Given the description of an element on the screen output the (x, y) to click on. 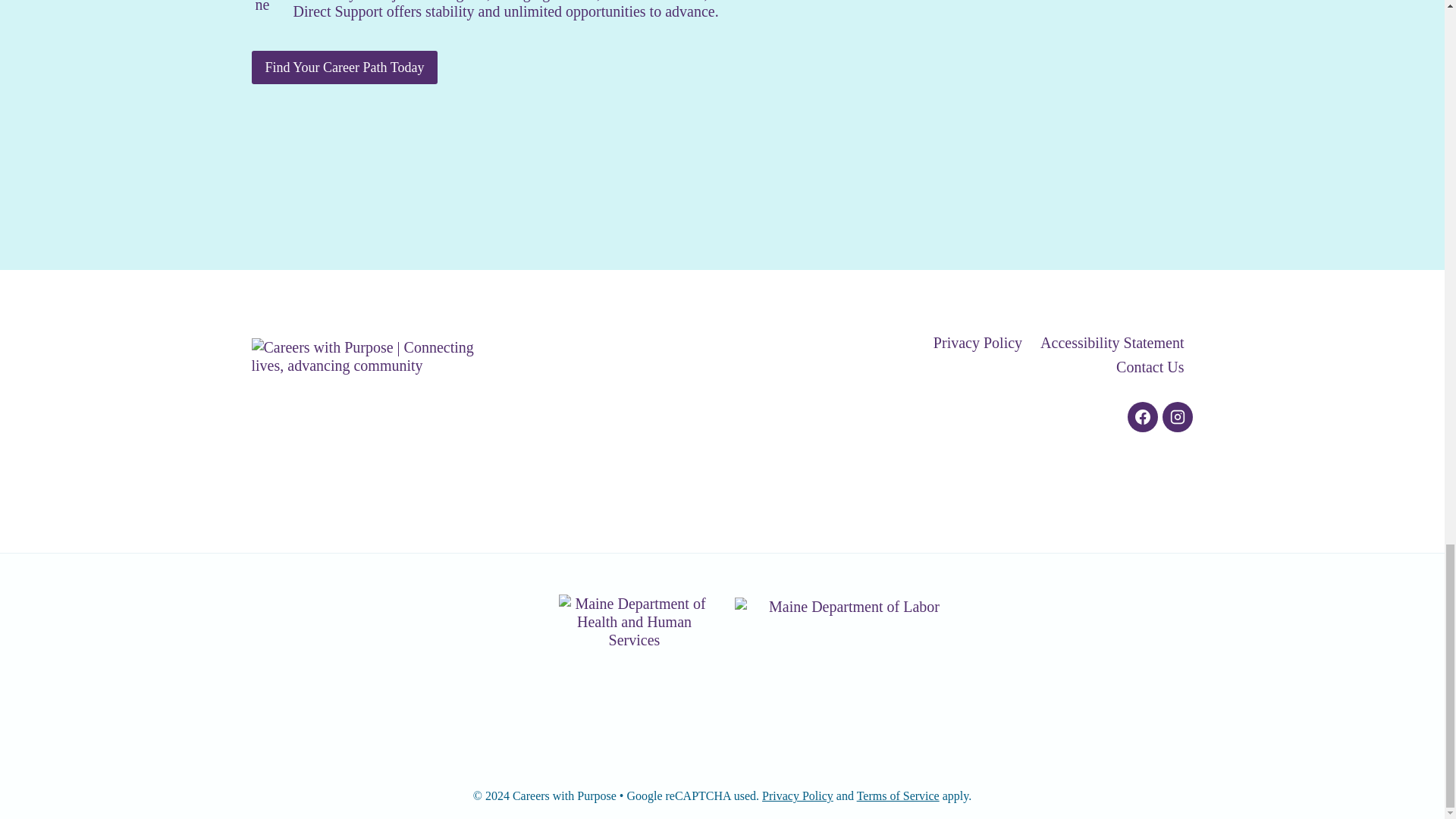
Contact Us (1149, 366)
Terms of Service (898, 795)
Accessibility Statement (1111, 342)
Find Your Career Path Today (344, 66)
Privacy Policy (796, 795)
Privacy Policy (977, 342)
